Given the description of an element on the screen output the (x, y) to click on. 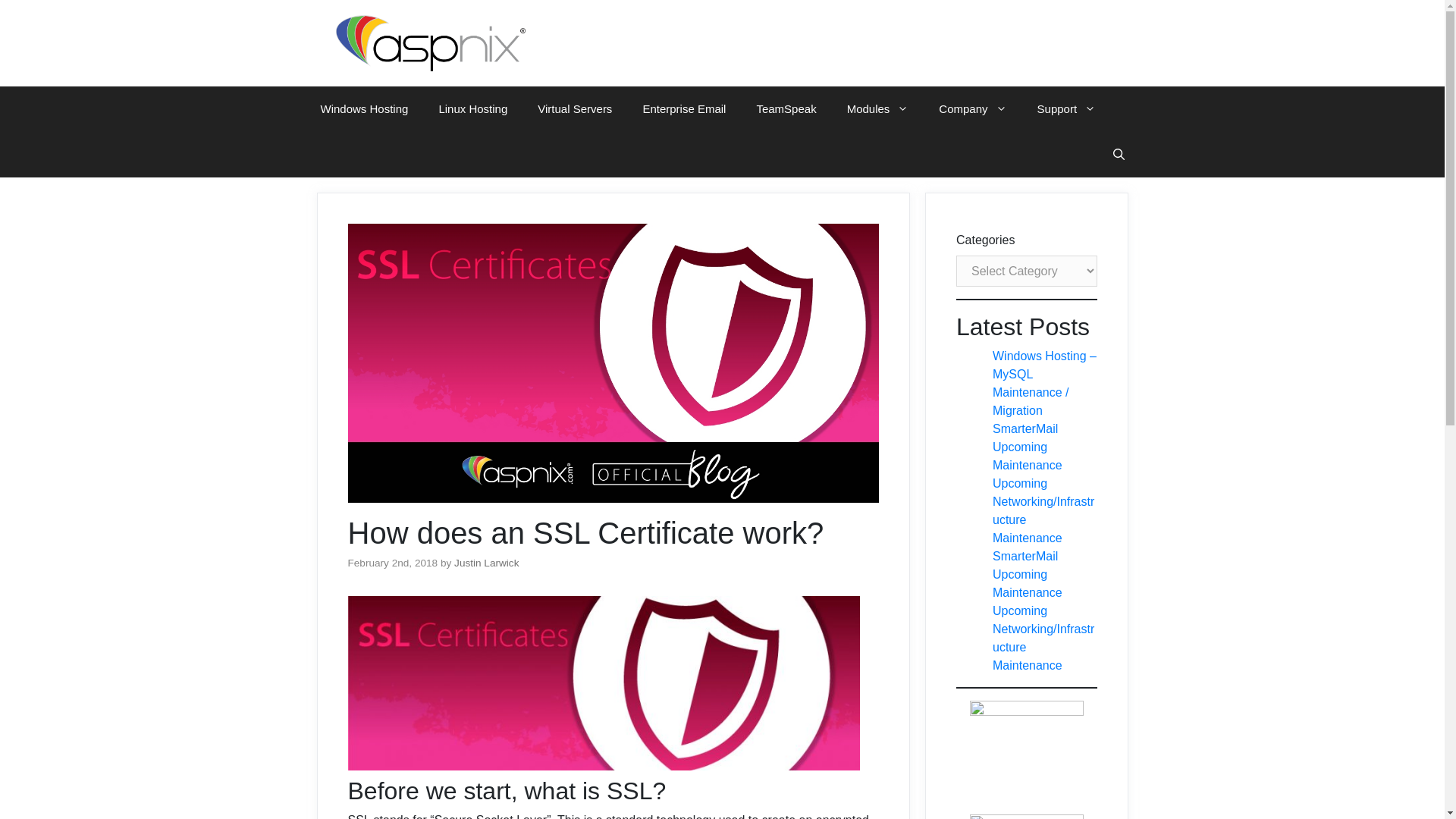
Windows Hosting (363, 108)
Virtual Cloud Servers (574, 108)
Modules (877, 108)
Justin Larwick (486, 562)
Support (1067, 108)
Company (972, 108)
Windows Hosting (363, 108)
Hosted Email (684, 108)
TeamSpeak (786, 108)
Virtual Servers (574, 108)
